Given the description of an element on the screen output the (x, y) to click on. 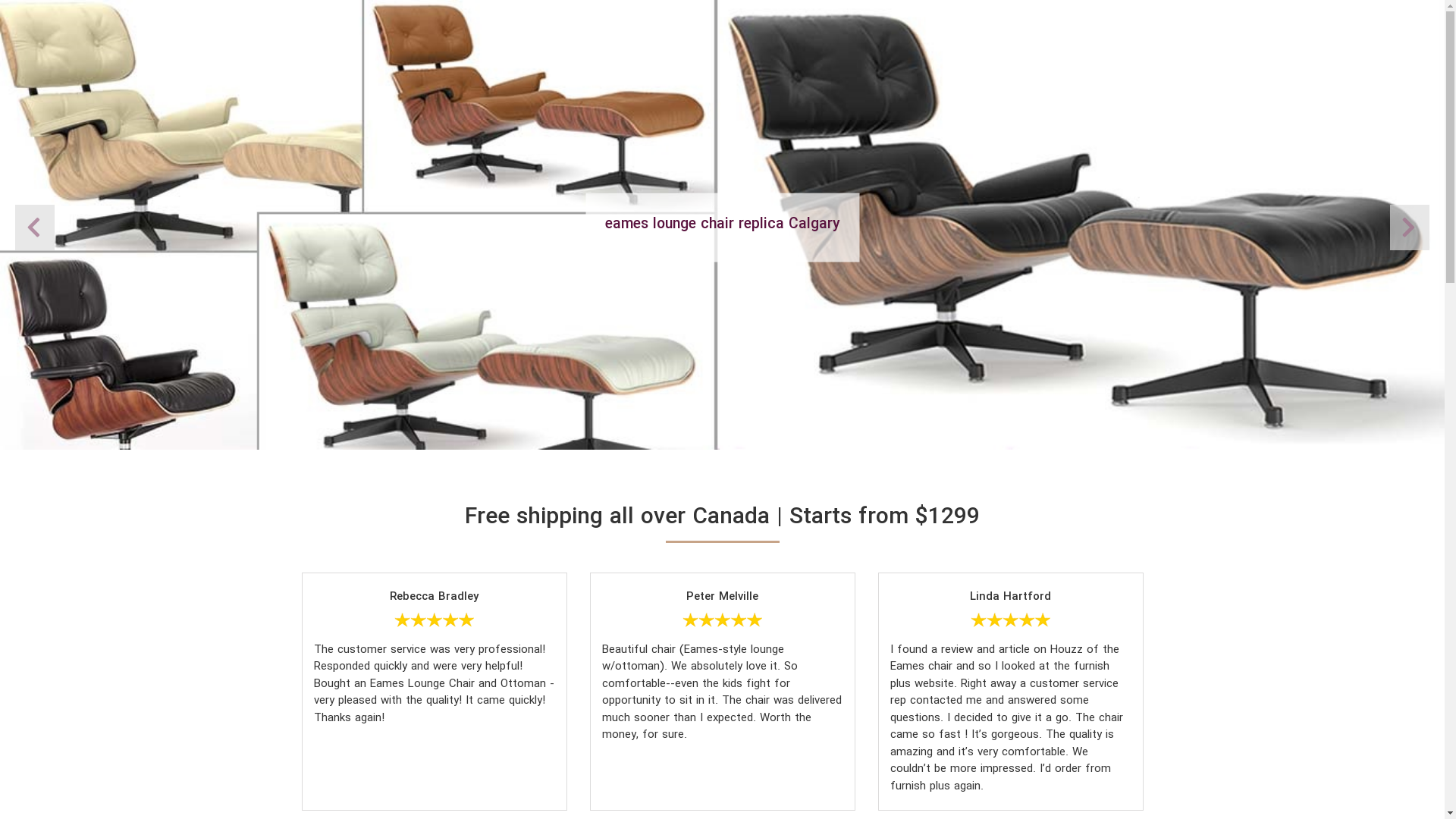
Next Element type: text (34, 227)
Previous Element type: text (1409, 227)
